Given the description of an element on the screen output the (x, y) to click on. 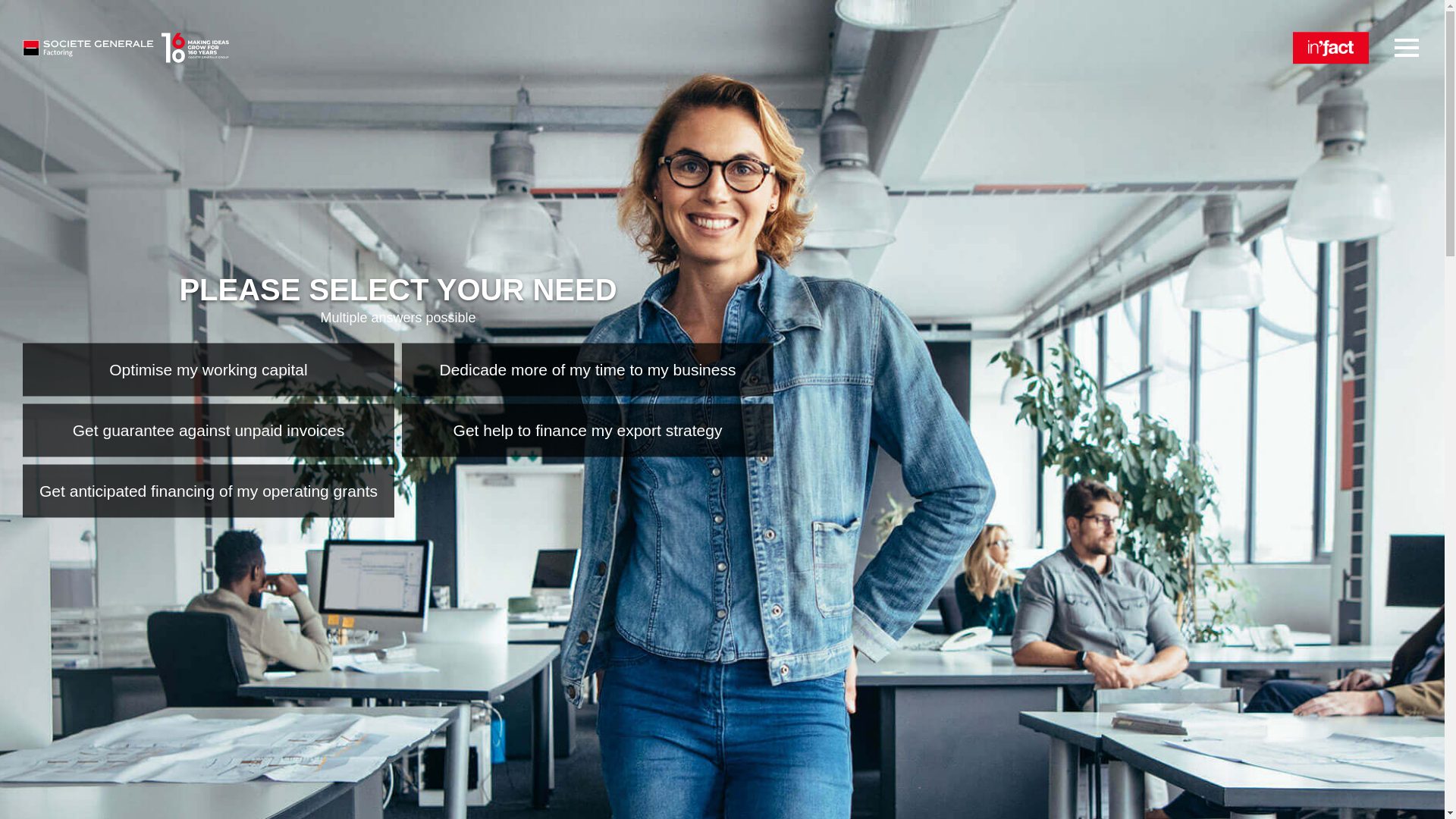
IN'FACT (1330, 47)
